Given the description of an element on the screen output the (x, y) to click on. 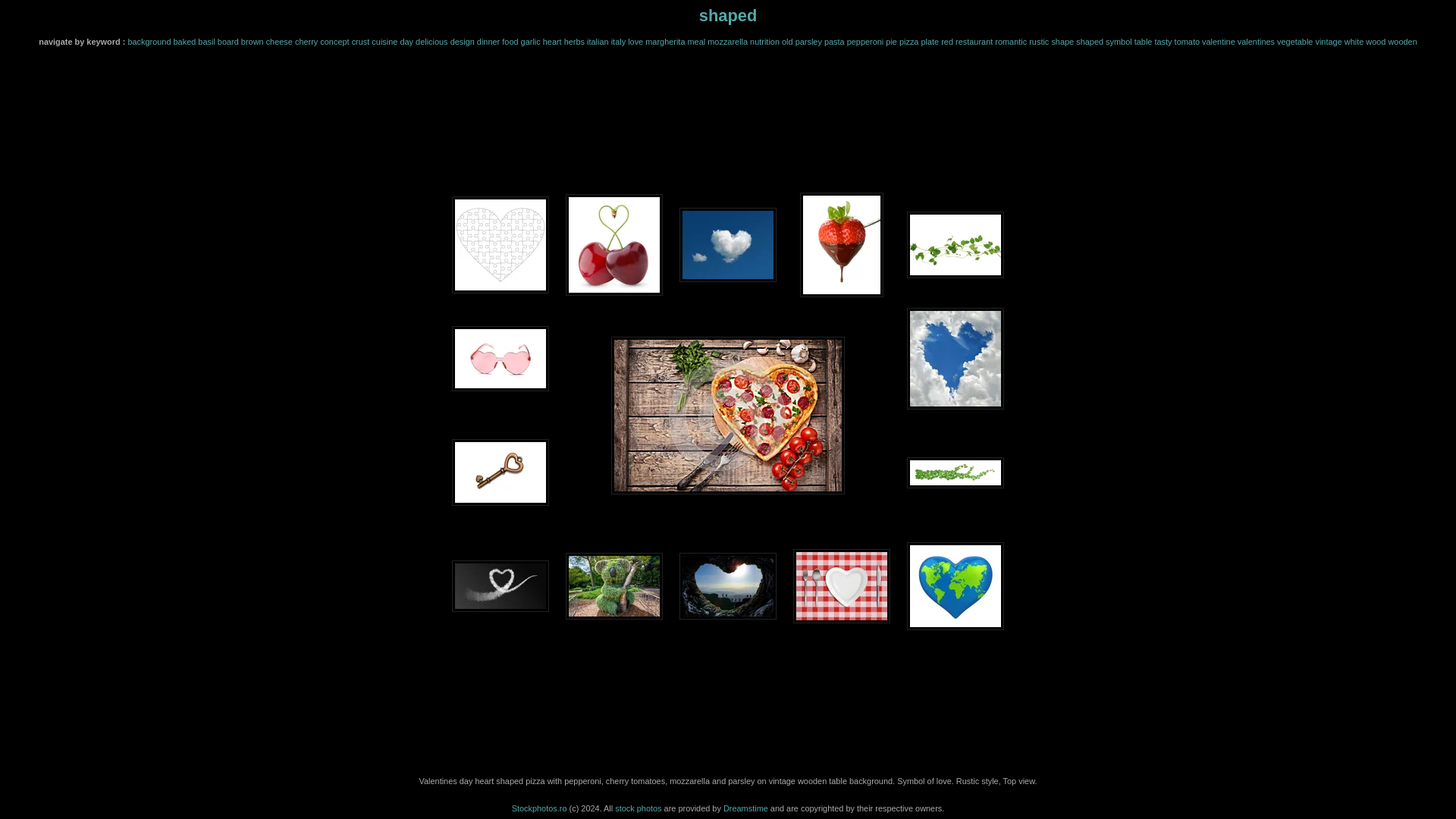
pasta (834, 40)
basil (206, 40)
dinner (488, 40)
shape (1062, 40)
italian (597, 40)
restaurant (973, 40)
crust (360, 40)
day (405, 40)
concept (334, 40)
delicious (431, 40)
pepperoni (865, 40)
basil (206, 40)
parsley (808, 40)
brown (252, 40)
old (787, 40)
